Given the description of an element on the screen output the (x, y) to click on. 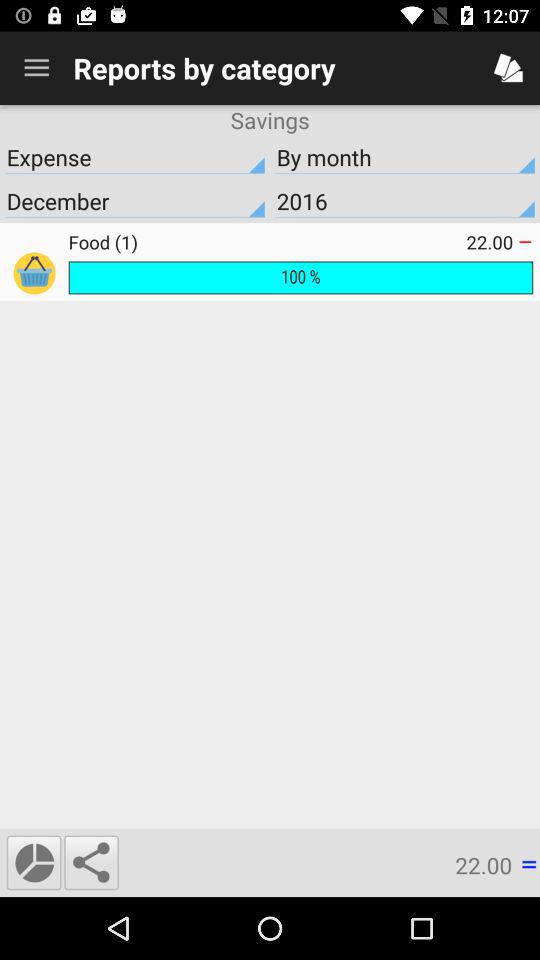
see pie chart (33, 862)
